Given the description of an element on the screen output the (x, y) to click on. 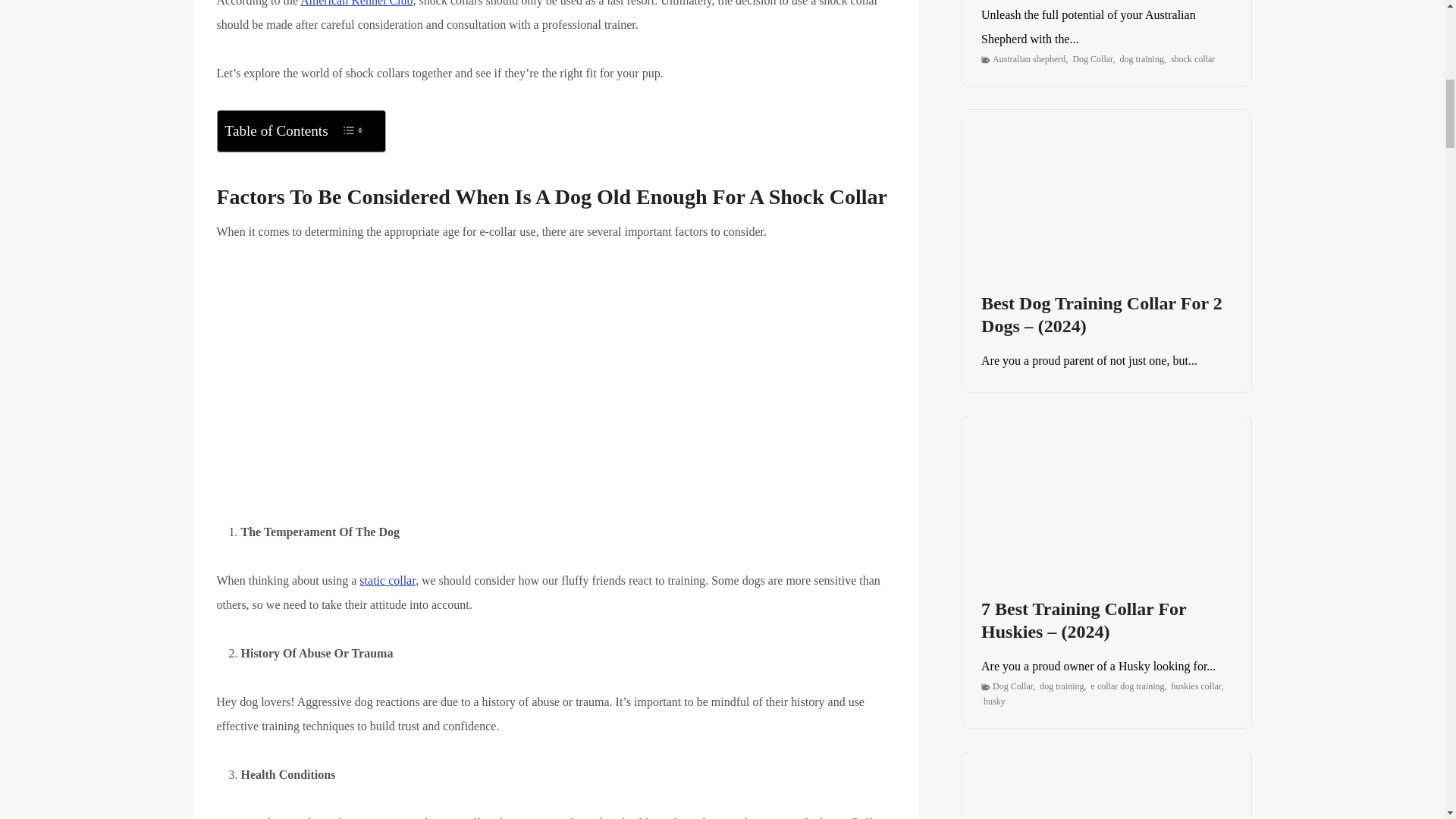
American Kennel Club (355, 3)
static collar (386, 580)
